Given the description of an element on the screen output the (x, y) to click on. 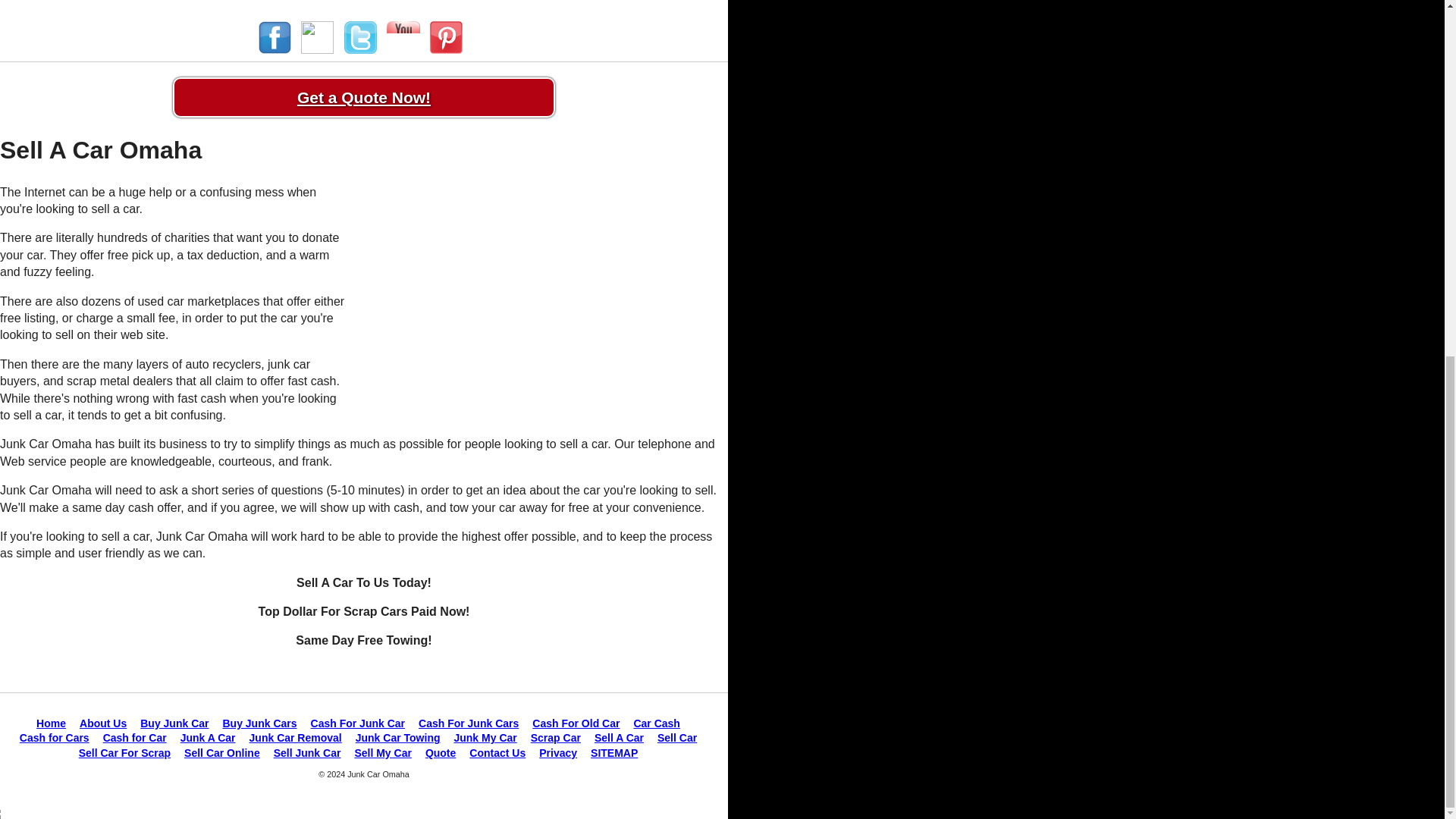
Cash for Cars (54, 737)
Buy Junk Car (173, 723)
Junk My Car (484, 737)
Quote (440, 752)
Sell Car (677, 737)
About Us (103, 723)
Cash For Junk Cars (468, 723)
Sell My Car (381, 752)
Cash For Old Car (576, 723)
Privacy (557, 752)
